Given the description of an element on the screen output the (x, y) to click on. 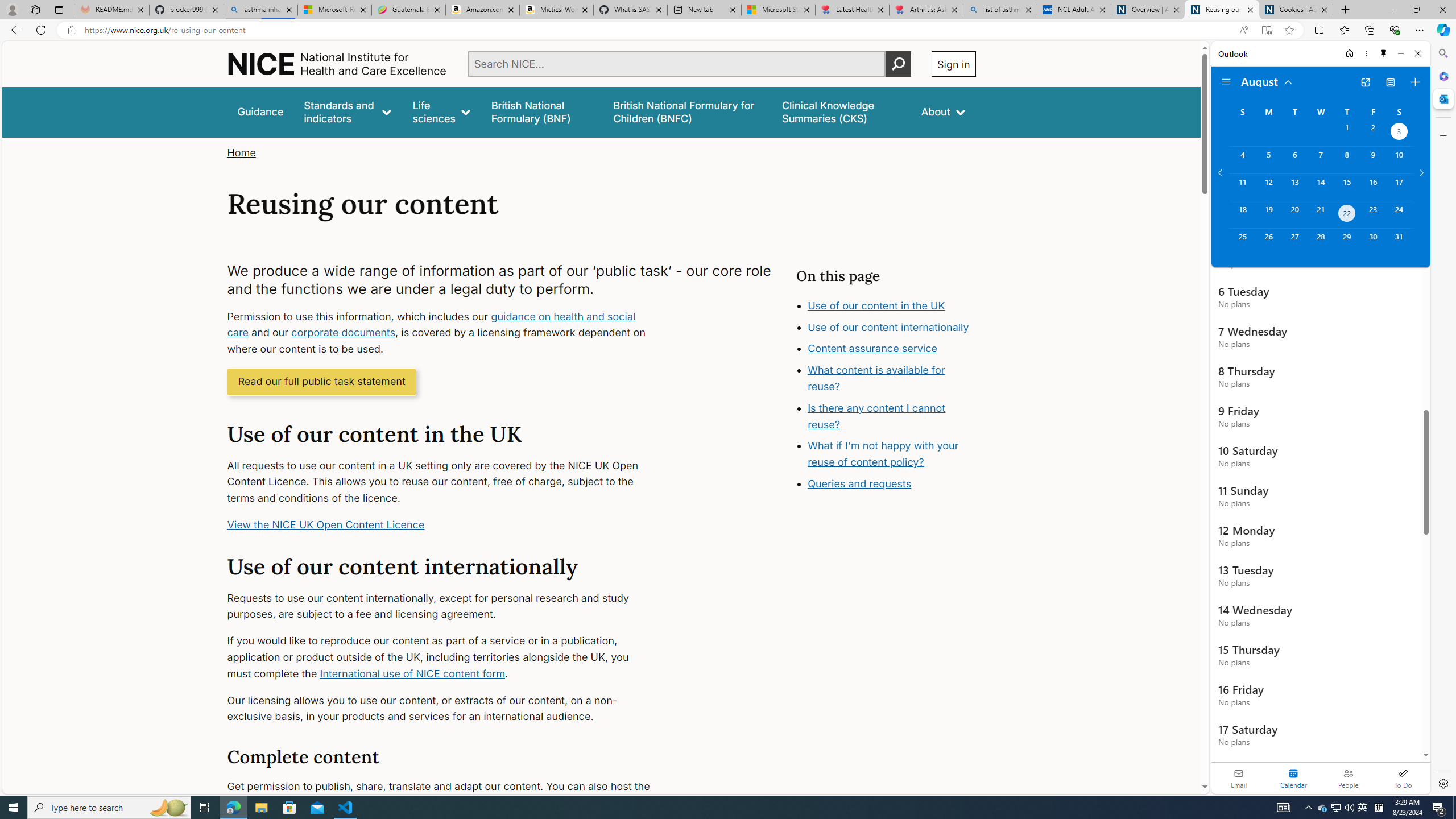
Thursday, August 8, 2024.  (1346, 159)
Thursday, August 1, 2024.  (1346, 132)
false (841, 111)
Saturday, August 17, 2024.  (1399, 186)
Saturday, August 31, 2024.  (1399, 241)
